Given the description of an element on the screen output the (x, y) to click on. 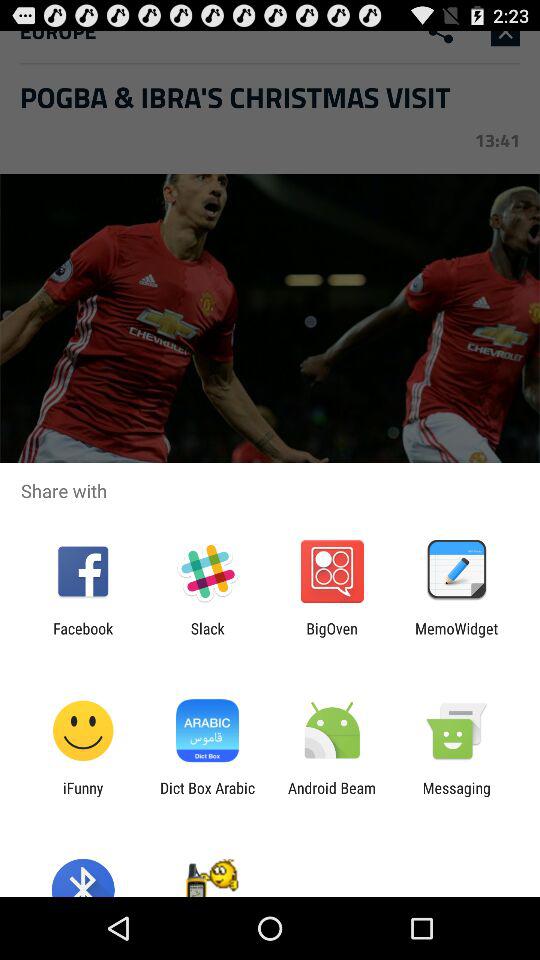
tap app next to messaging item (332, 796)
